Given the description of an element on the screen output the (x, y) to click on. 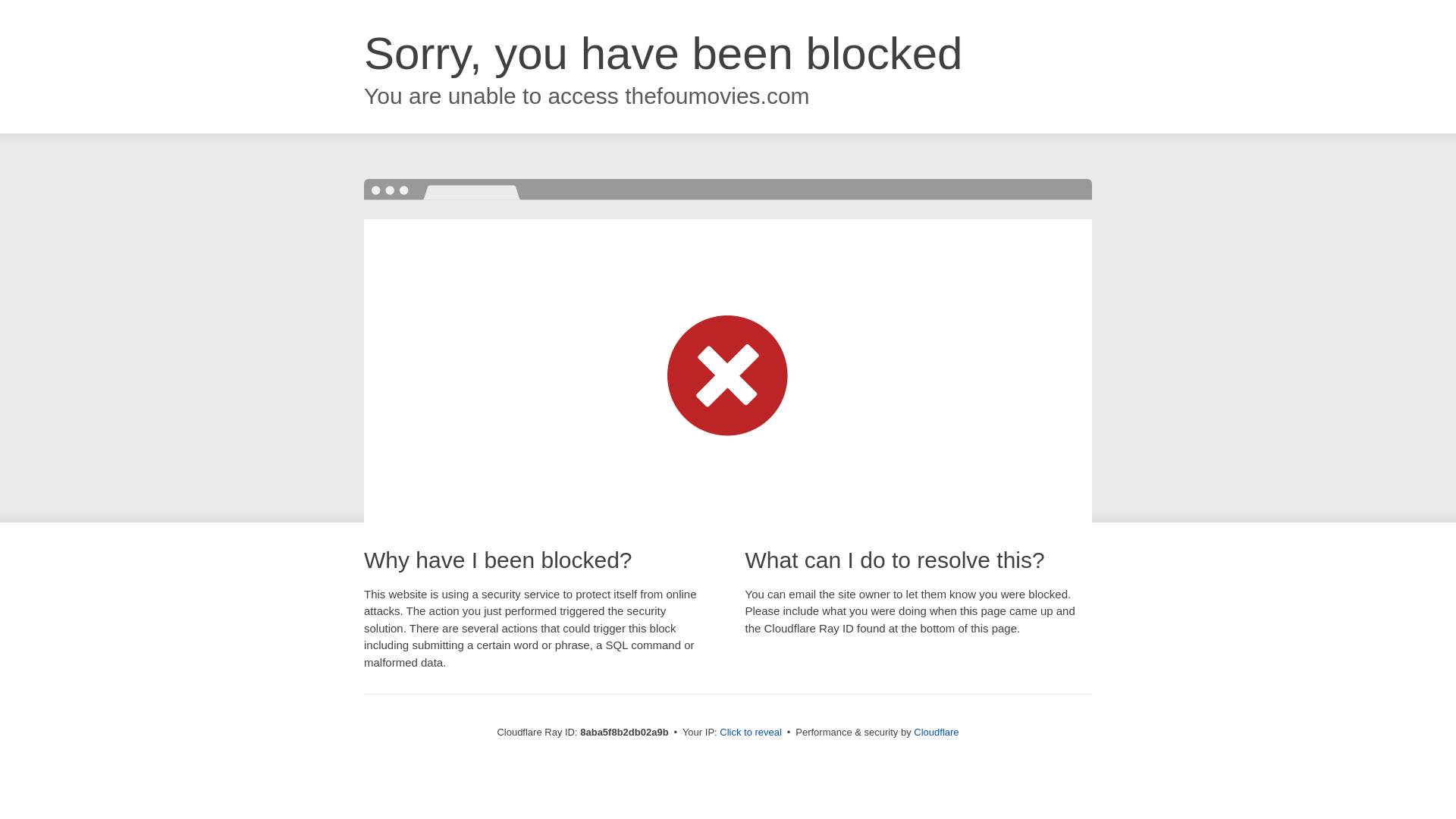
Click to reveal (750, 732)
Cloudflare (936, 731)
